Given the description of an element on the screen output the (x, y) to click on. 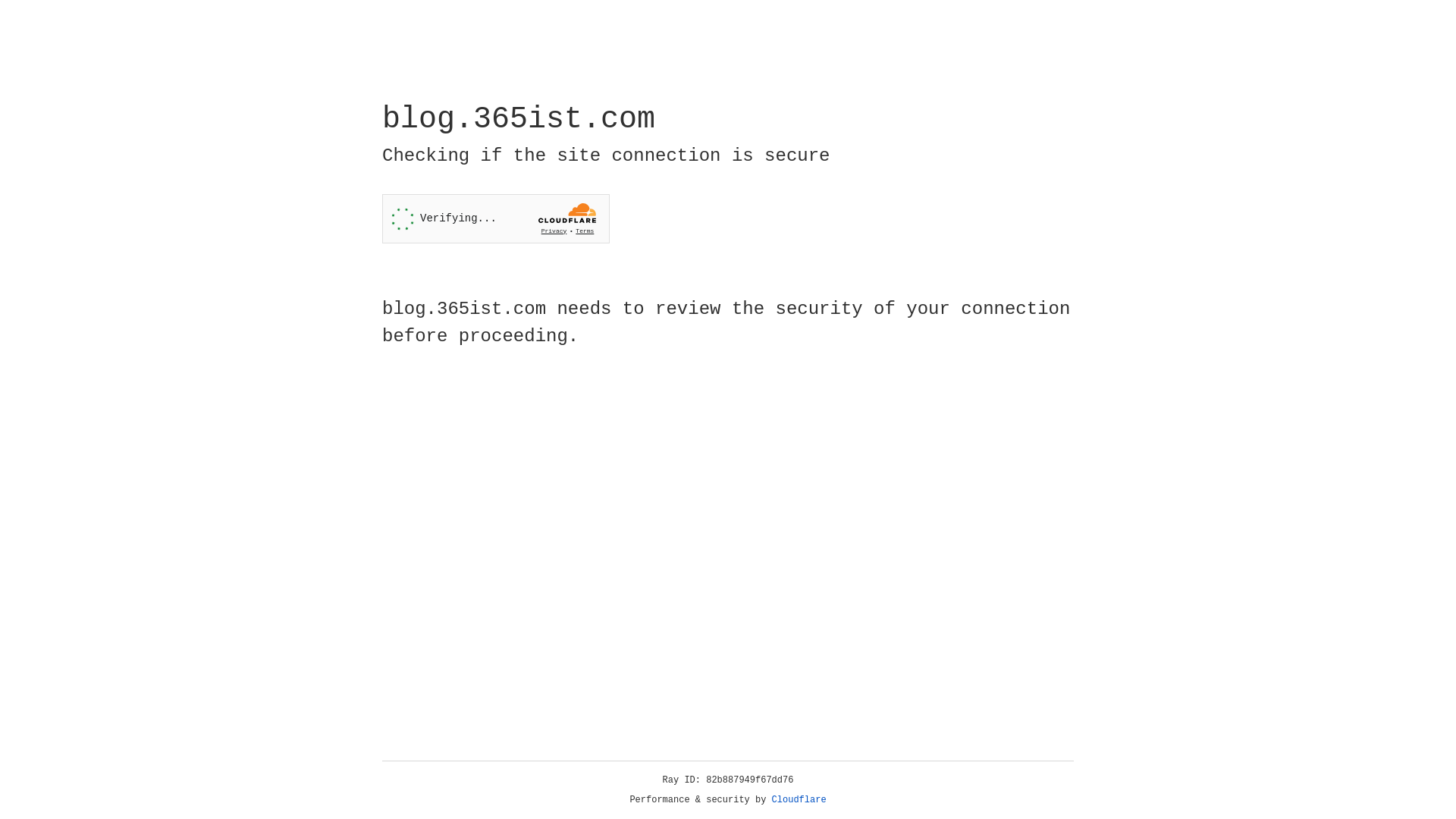
Cloudflare Element type: text (798, 799)
Widget containing a Cloudflare security challenge Element type: hover (495, 218)
